Given the description of an element on the screen output the (x, y) to click on. 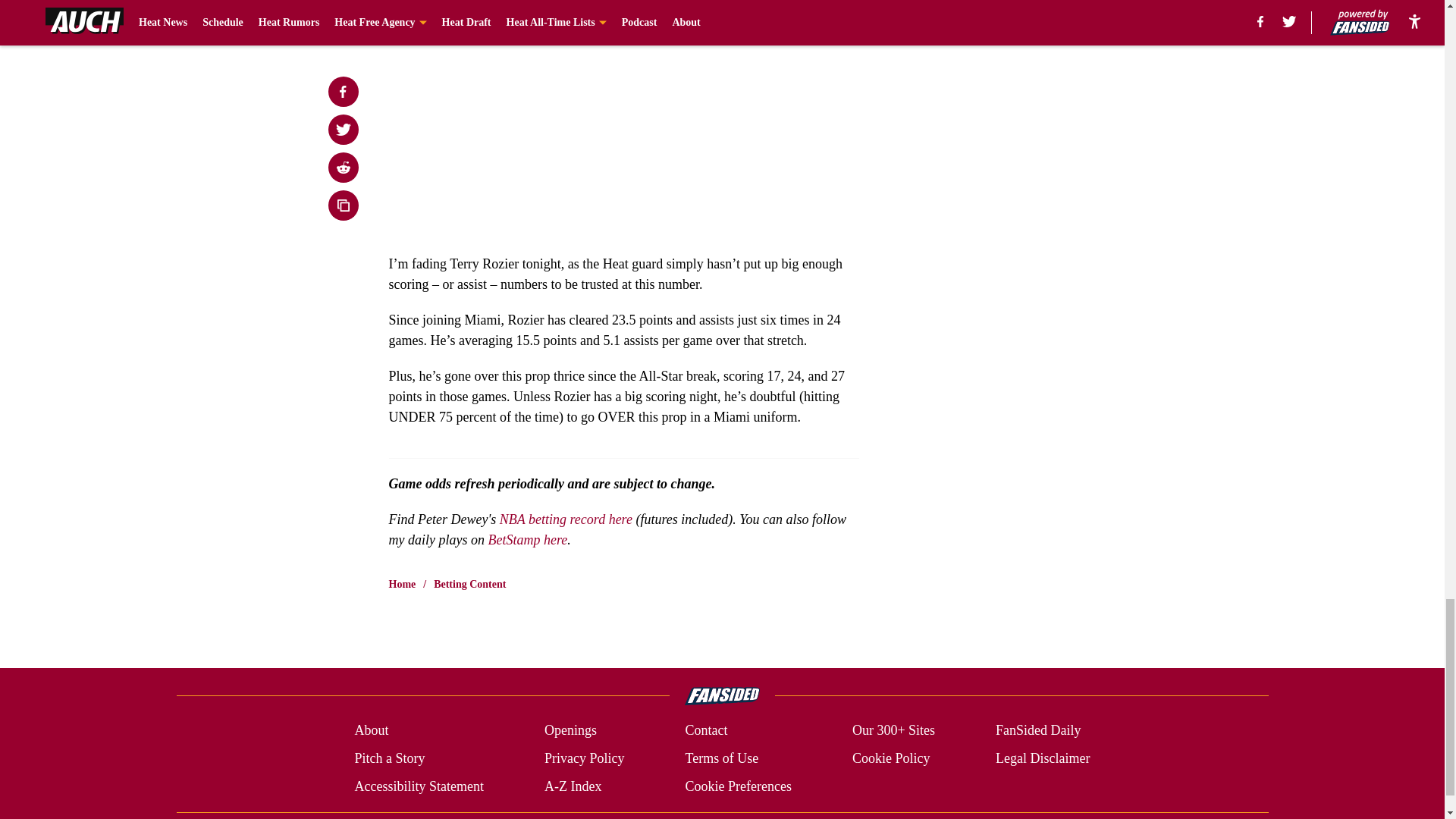
Cookie Policy (890, 757)
BetStamp here (527, 539)
NBA betting record here (565, 518)
A-Z Index (572, 786)
About (370, 730)
Terms of Use (721, 757)
FanSided Daily (1038, 730)
Legal Disclaimer (1042, 757)
Openings (570, 730)
Pitch a Story (389, 757)
